Given the description of an element on the screen output the (x, y) to click on. 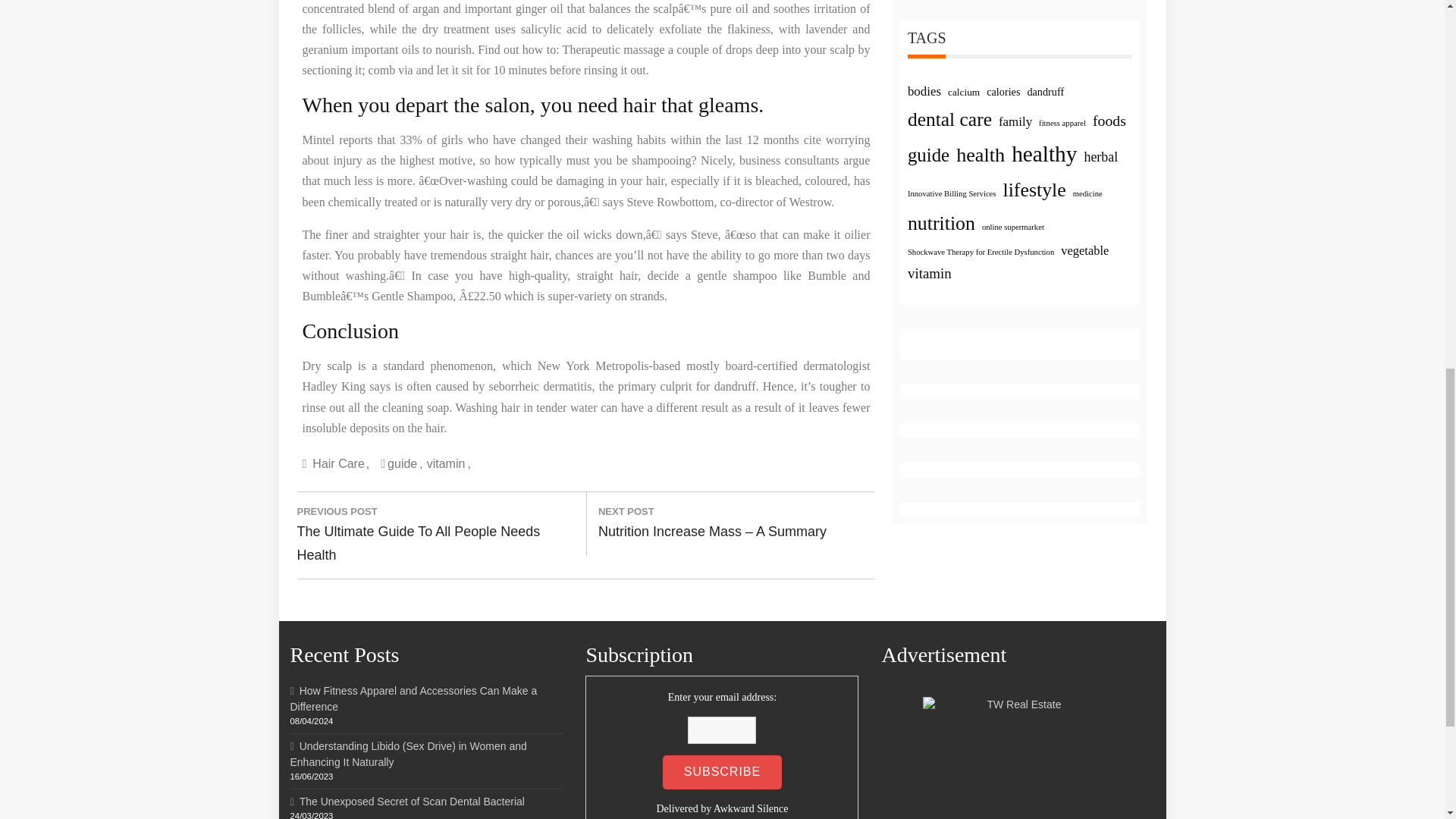
Subscribe (721, 772)
guide (405, 463)
Hair Care (340, 463)
vitamin (448, 463)
TW Real Estate (1017, 757)
